Given the description of an element on the screen output the (x, y) to click on. 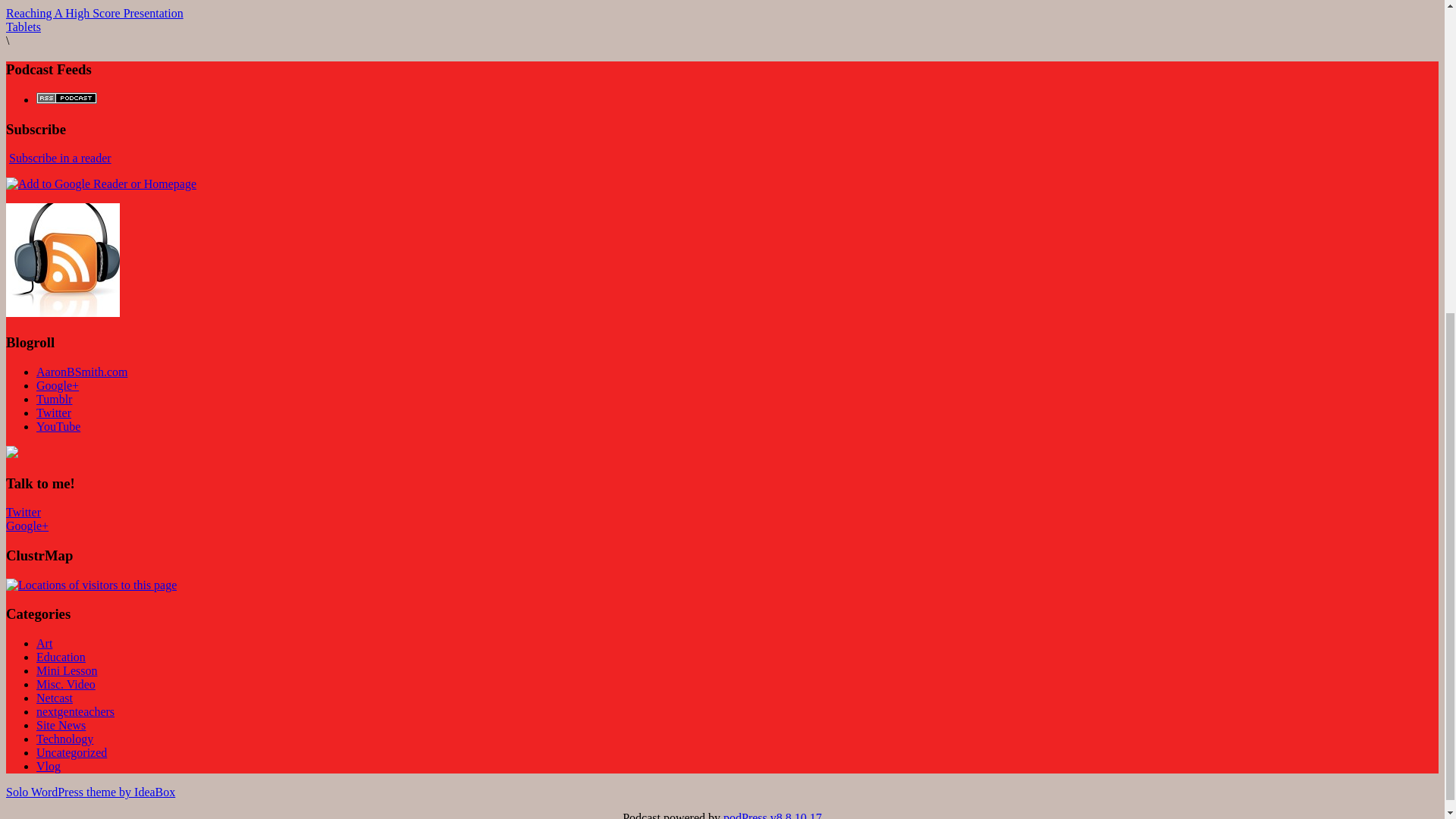
YouTube (58, 426)
Subscribe in a reader (60, 157)
Tumblr (53, 399)
Tablets (22, 26)
Reaching A High Score Presentation (94, 12)
Twitter (53, 412)
Twitter (22, 512)
AaronBSmith.com (82, 371)
